Given the description of an element on the screen output the (x, y) to click on. 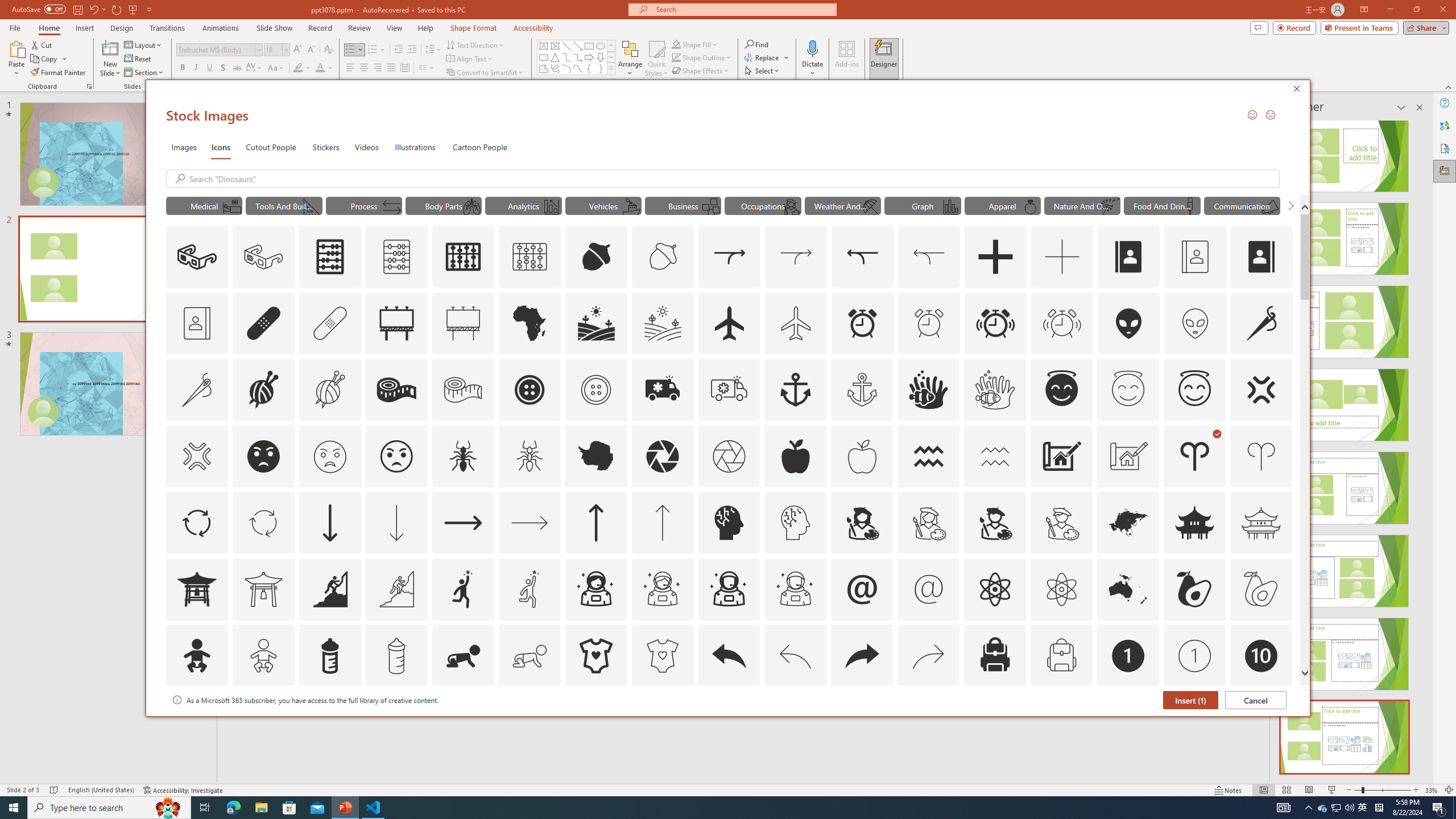
AutomationID: Icons_Advertising (397, 323)
AutomationID: Icons_Agriculture_M (663, 323)
Stickers (326, 146)
AutomationID: Icons_BeachUmbrella_M (870, 206)
AutomationID: Icons_Badge4 (529, 721)
